Given the description of an element on the screen output the (x, y) to click on. 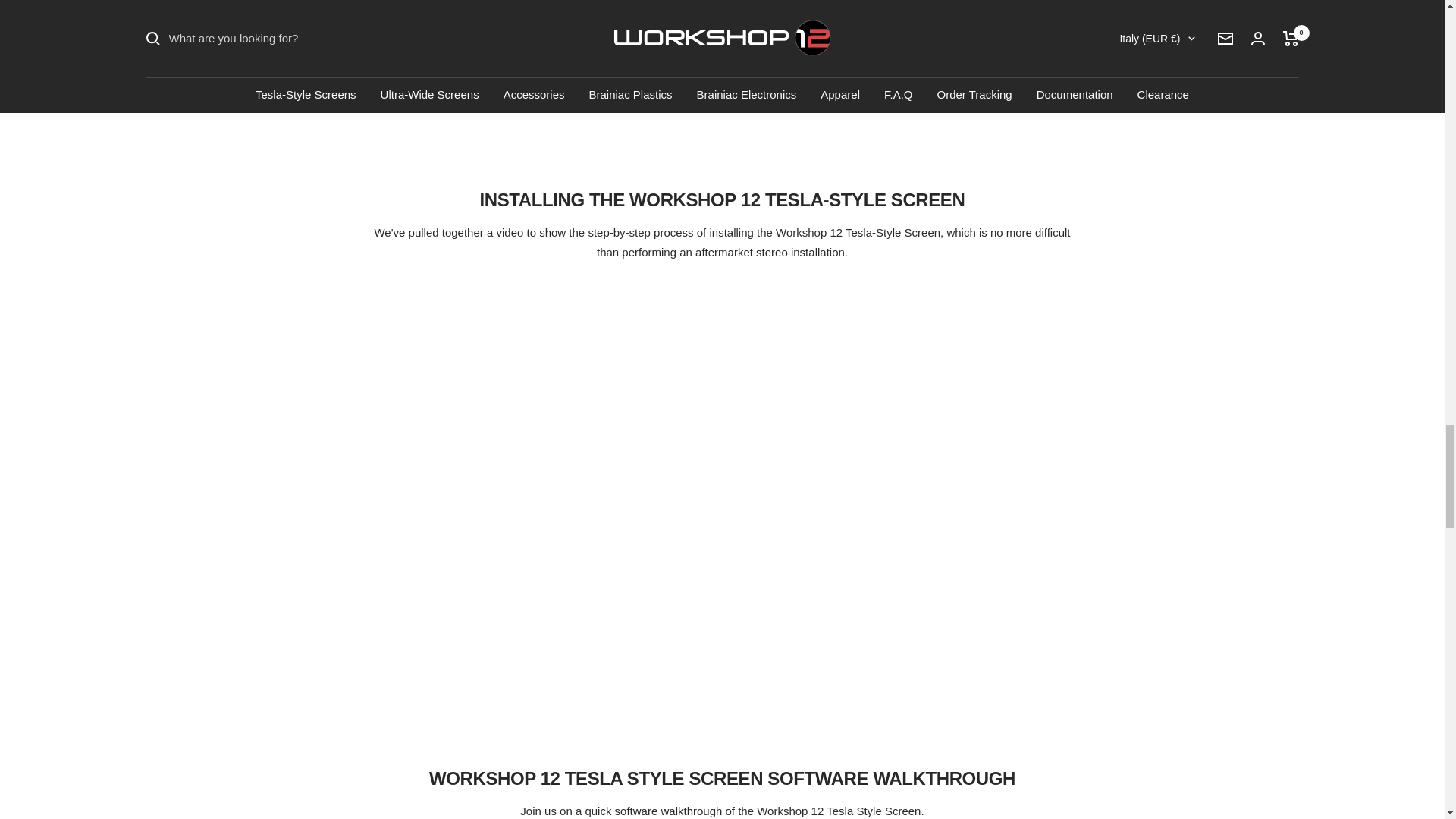
YouTube video player (722, 59)
